Given the description of an element on the screen output the (x, y) to click on. 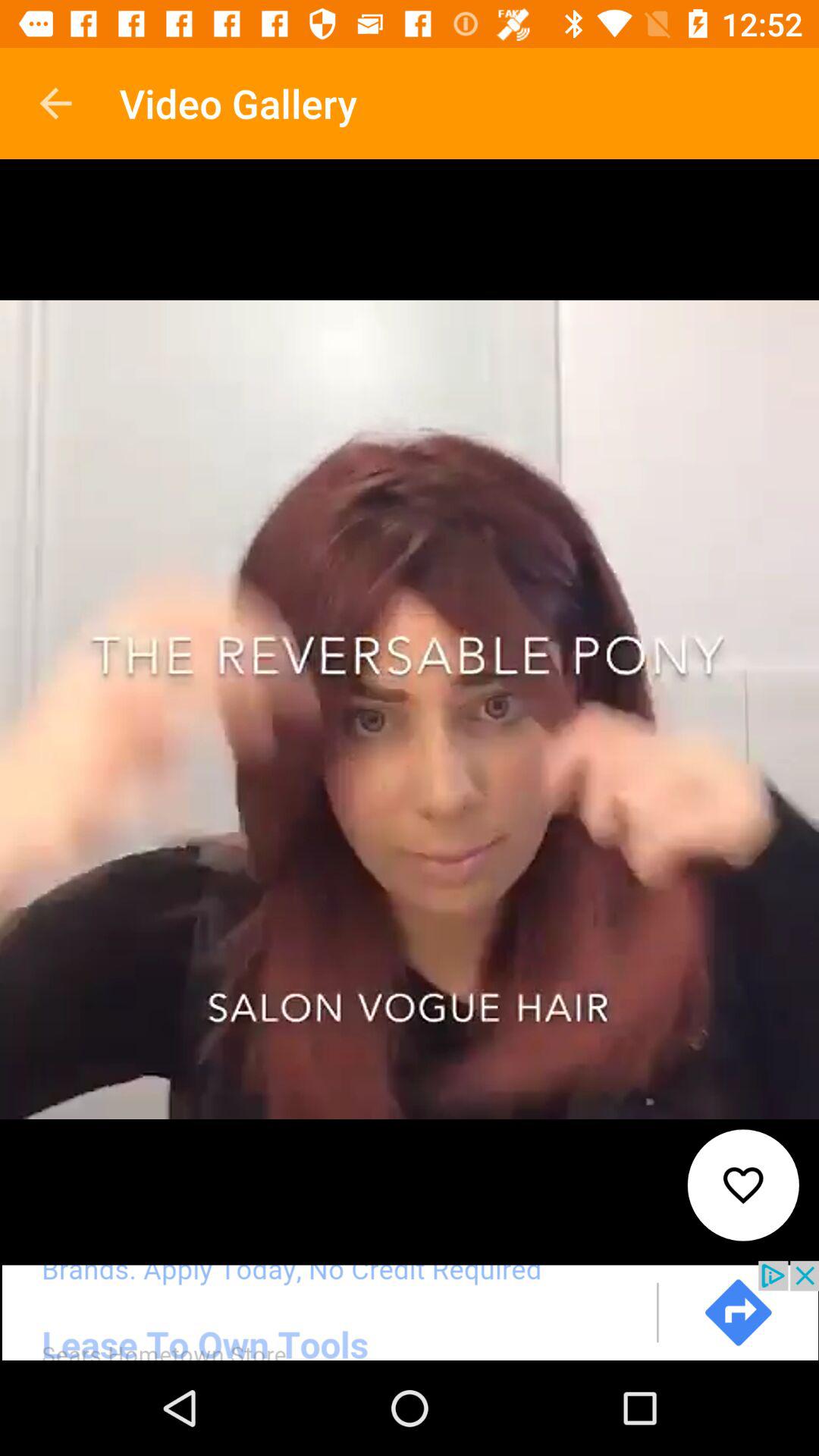
saloon hair styling display (409, 1310)
